Given the description of an element on the screen output the (x, y) to click on. 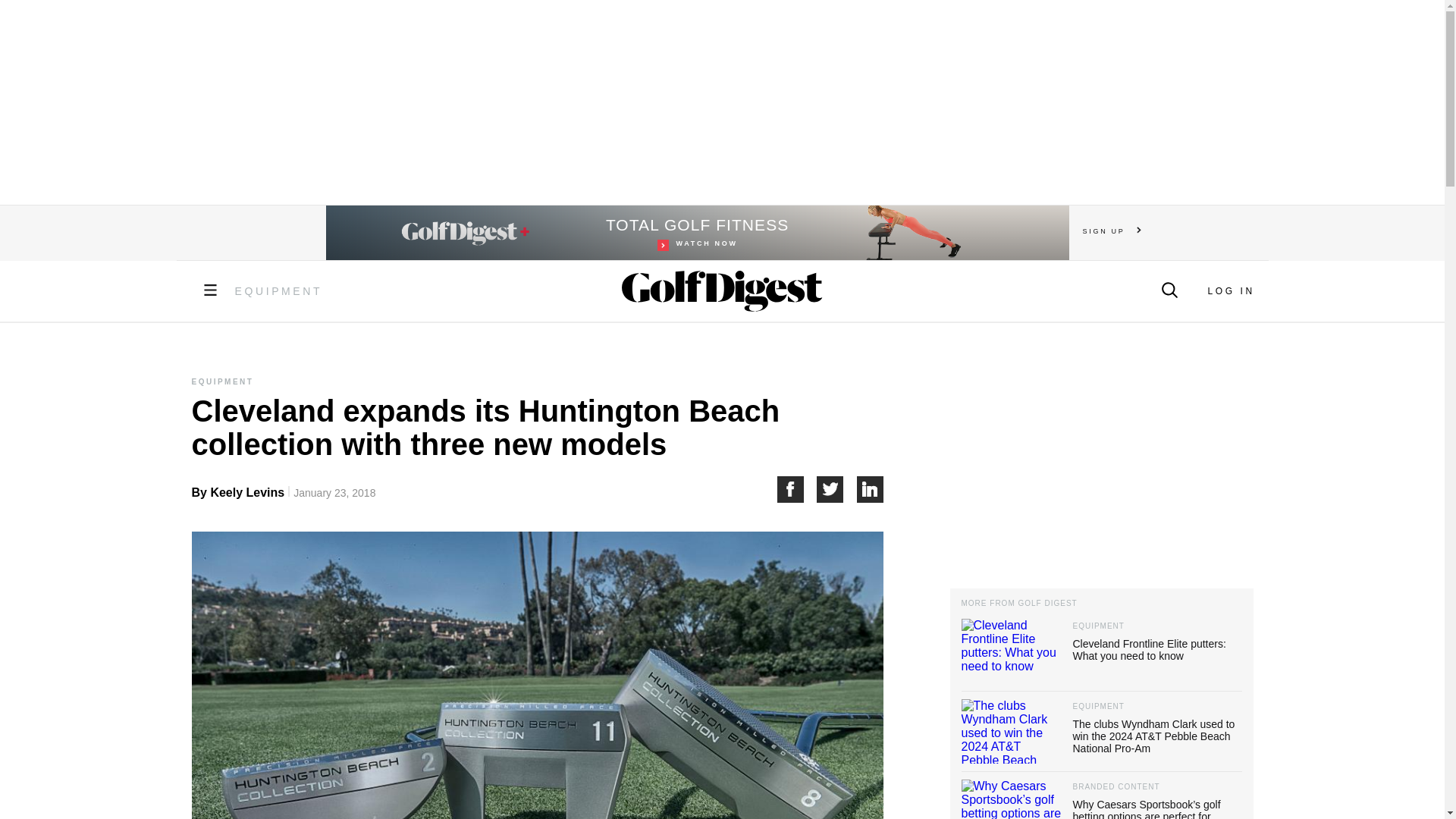
EQUIPMENT (278, 291)
SIGN UP (1112, 230)
LOG IN (697, 232)
Share on LinkedIn (1230, 290)
Share on Facebook (870, 488)
Share on Twitter (796, 488)
